Given the description of an element on the screen output the (x, y) to click on. 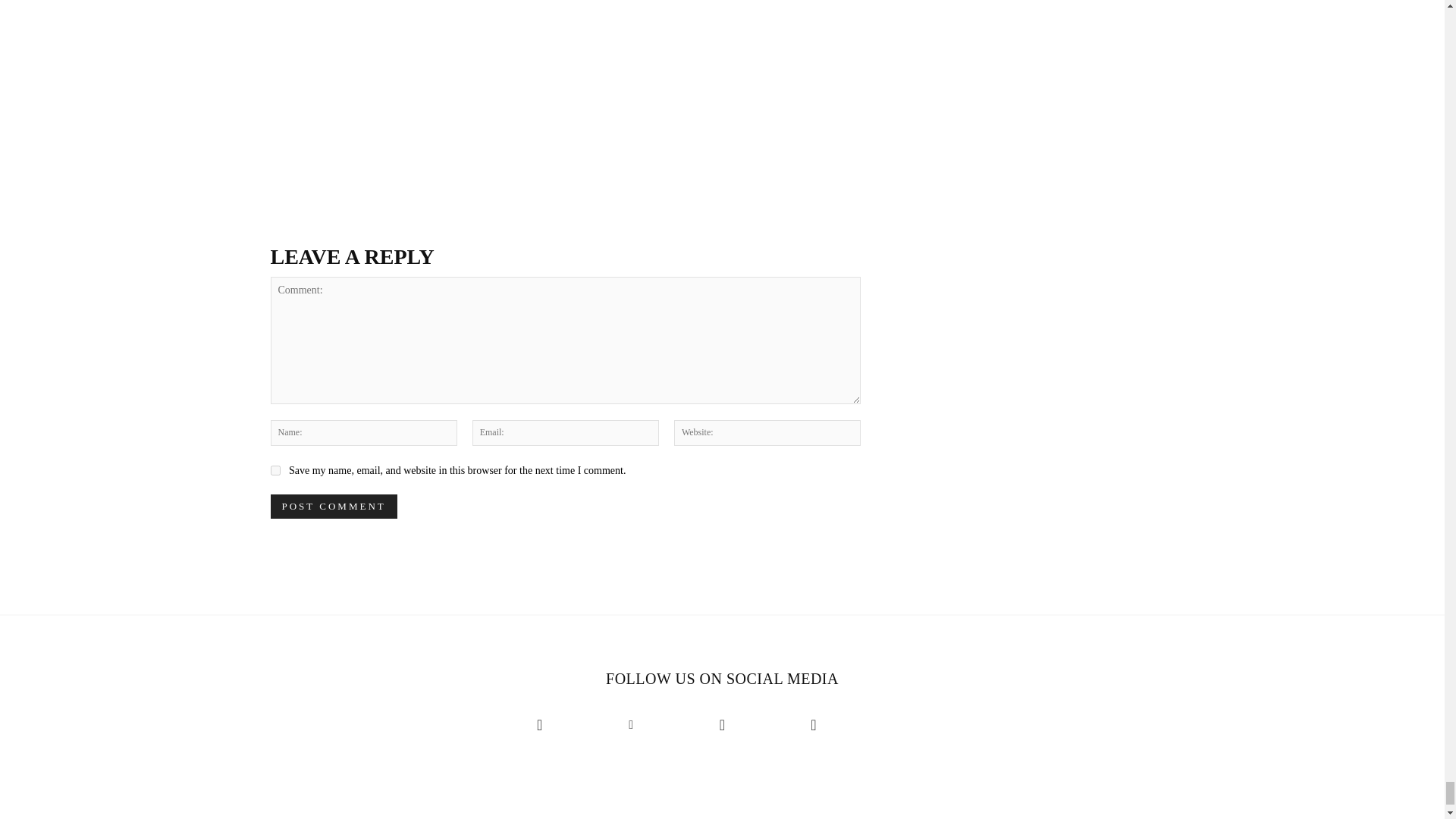
yes (274, 470)
Post Comment (332, 506)
